Given the description of an element on the screen output the (x, y) to click on. 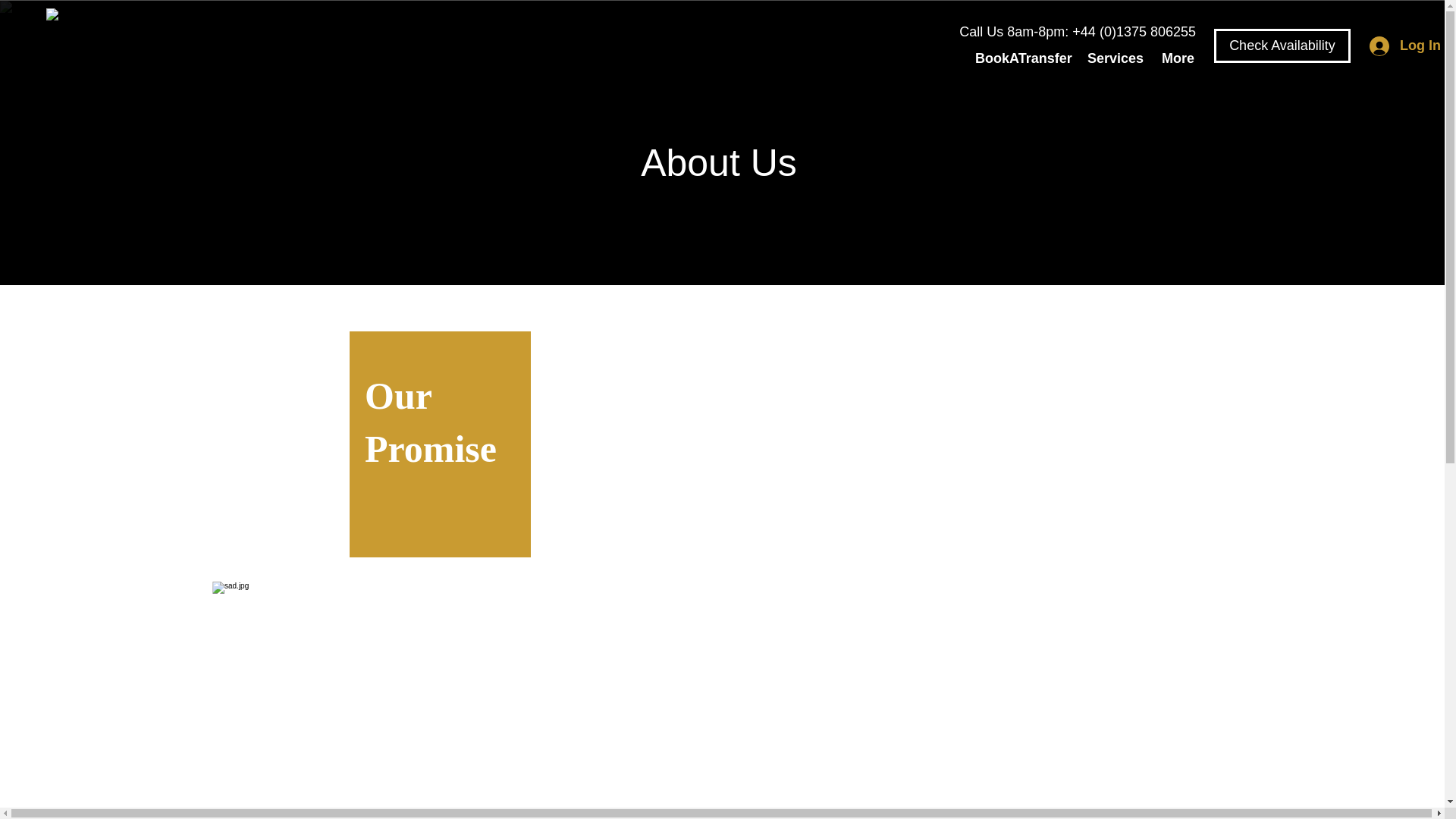
Check Availability (695, 816)
BookATransfer (1019, 58)
Check Availability (1282, 45)
Log In (1385, 45)
